Given the description of an element on the screen output the (x, y) to click on. 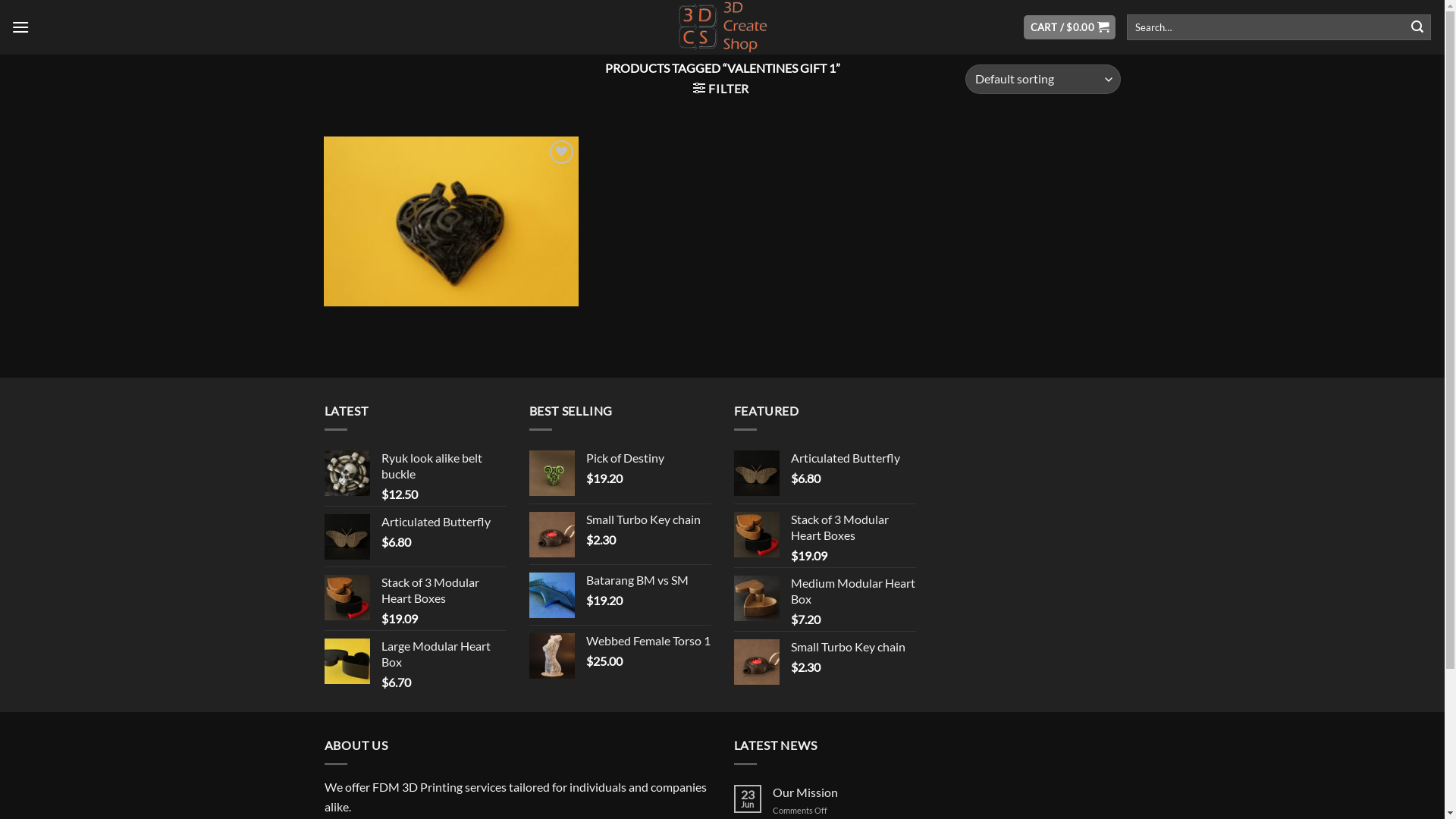
Batarang BM vs SM Element type: text (647, 580)
Our Mission Element type: text (946, 791)
Articulated Butterfly Element type: text (852, 458)
Pick of Destiny Element type: text (647, 458)
Small Turbo Key chain Element type: text (852, 647)
FILTER Element type: text (721, 88)
Small Turbo Key chain Element type: text (647, 519)
Stack of 3 Modular Heart Boxes Element type: text (852, 527)
Webbed Female Torso 1 Element type: text (647, 641)
Large Modular Heart Box Element type: text (442, 654)
3D Create Shop - Meeting your creative and functional needs Element type: hover (721, 27)
Stack of 3 Modular Heart Boxes Element type: text (442, 590)
Medium Modular Heart Box Element type: text (852, 591)
Articulated Butterfly Element type: text (442, 522)
CART / $0.00 Element type: text (1069, 27)
Ryuk look alike belt buckle Element type: text (442, 466)
Search Element type: text (1417, 27)
